Given the description of an element on the screen output the (x, y) to click on. 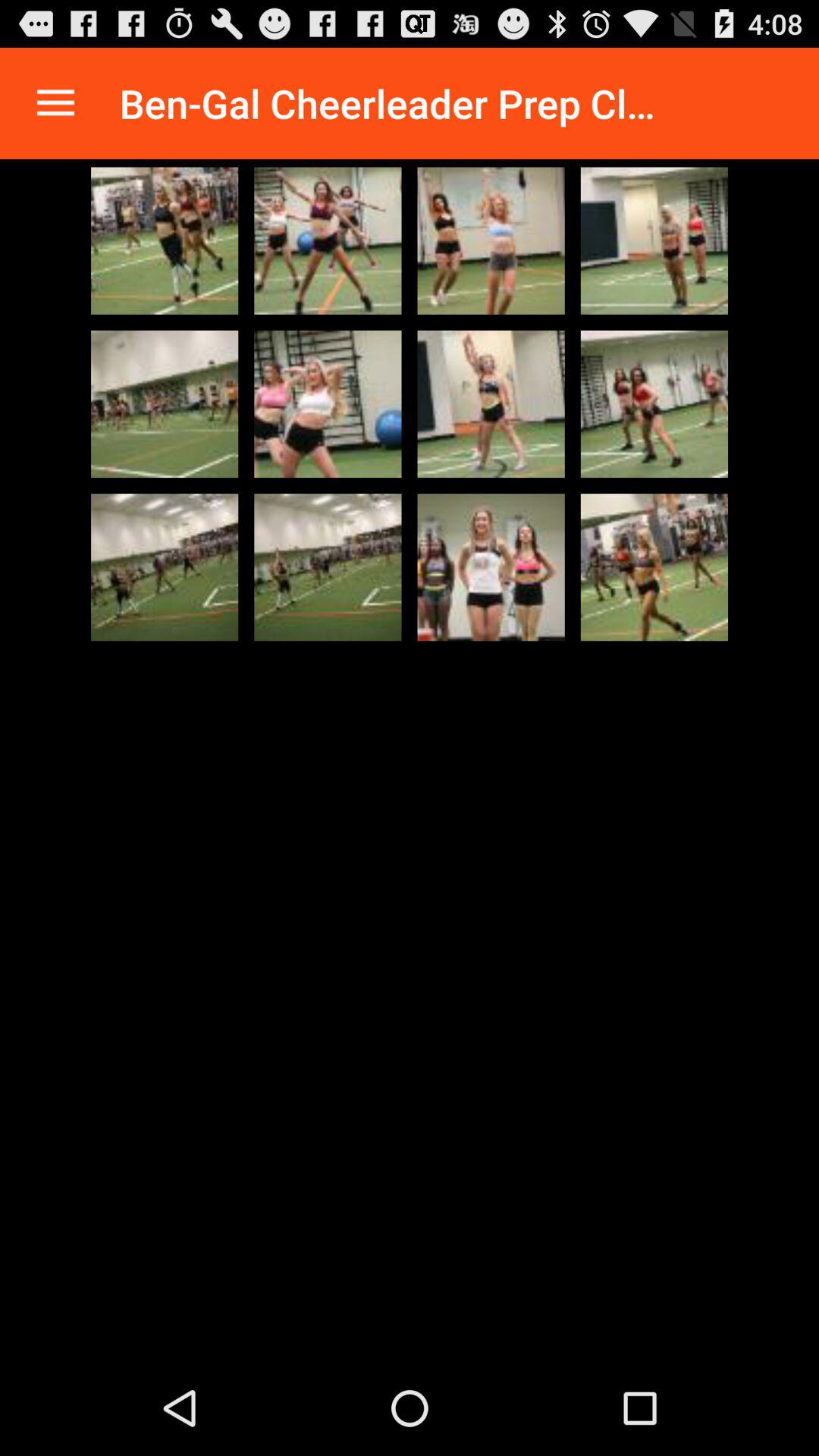
image select (164, 240)
